Given the description of an element on the screen output the (x, y) to click on. 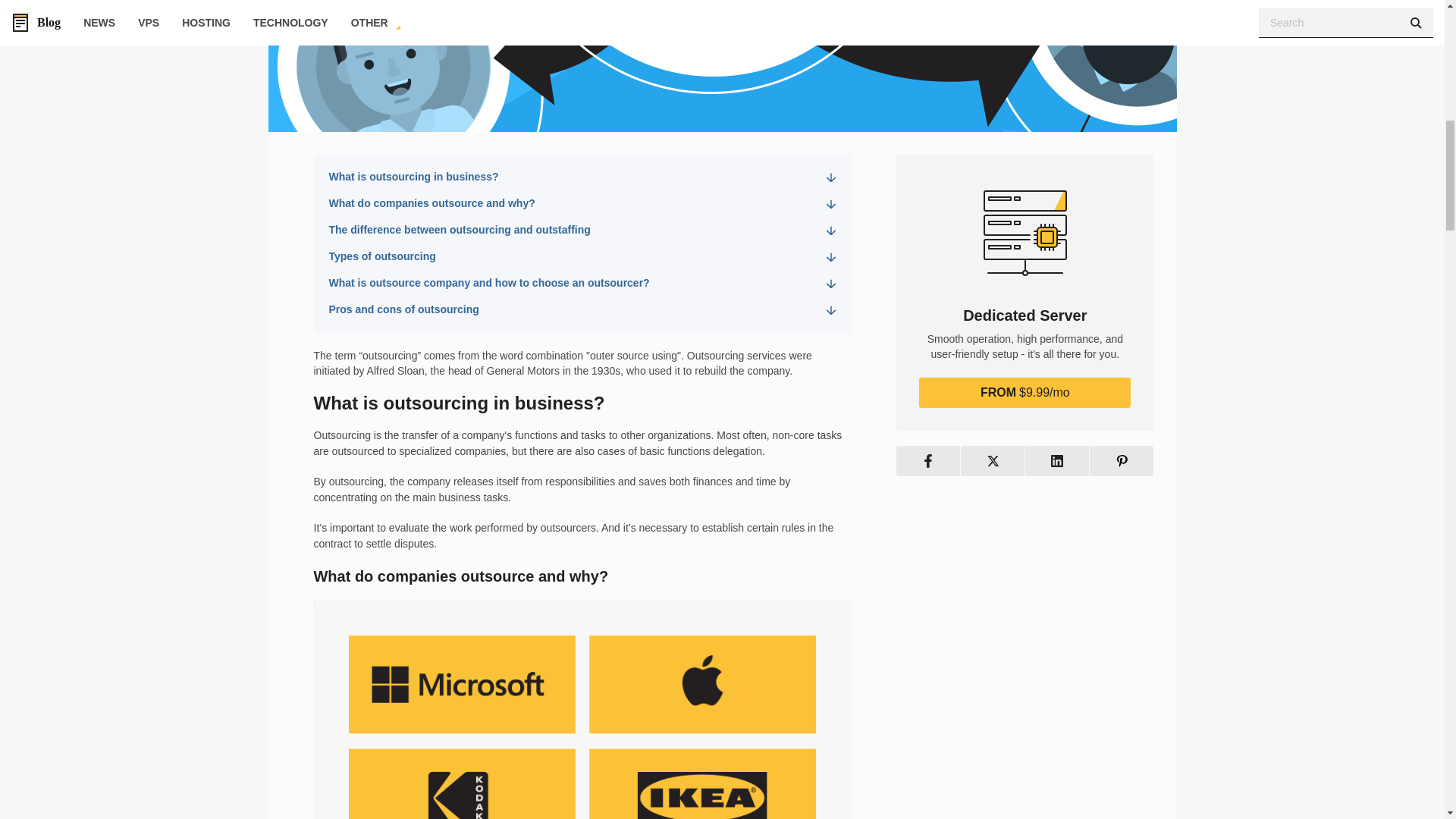
The difference between outsourcing and outstaffing  (582, 230)
Pros and cons of outsourcing (582, 309)
Types of outsourcing (582, 256)
What is outsourcing in business? (582, 177)
What is outsource company and how to choose an outsourcer? (582, 283)
What do companies outsource and why? (582, 203)
